Given the description of an element on the screen output the (x, y) to click on. 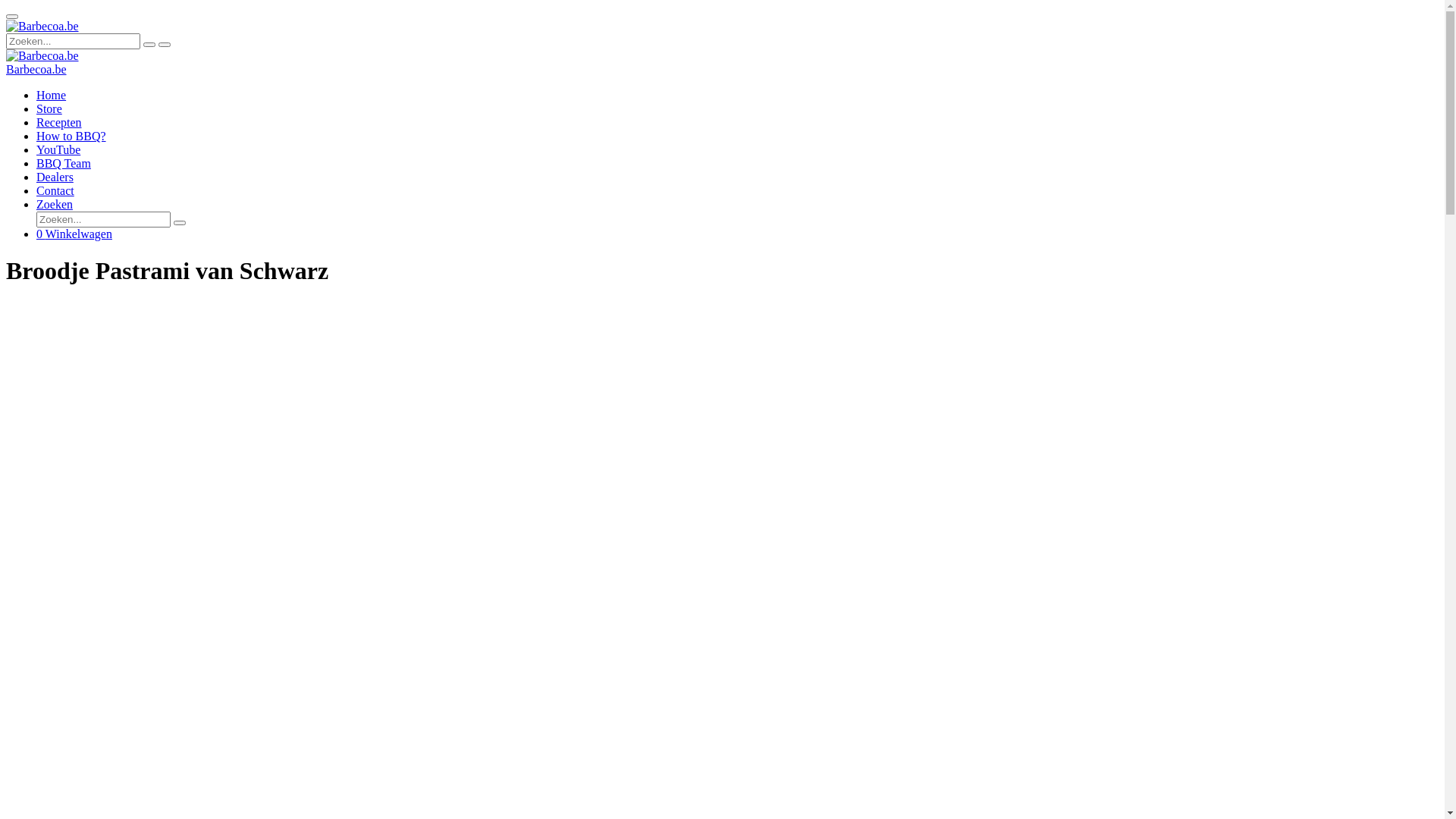
Barbecoa.be Element type: text (36, 68)
Store Element type: text (49, 108)
Recepten Element type: text (58, 122)
How to BBQ? Element type: text (71, 135)
Home Element type: text (50, 94)
Contact Element type: text (55, 190)
YouTube Element type: text (58, 149)
Dealers Element type: text (54, 176)
0 Winkelwagen Element type: text (74, 233)
BBQ Team Element type: text (63, 162)
Barbecoa.be Element type: hover (42, 55)
Zoeken Element type: text (54, 203)
Barbecoa.be Element type: hover (42, 26)
